Given the description of an element on the screen output the (x, y) to click on. 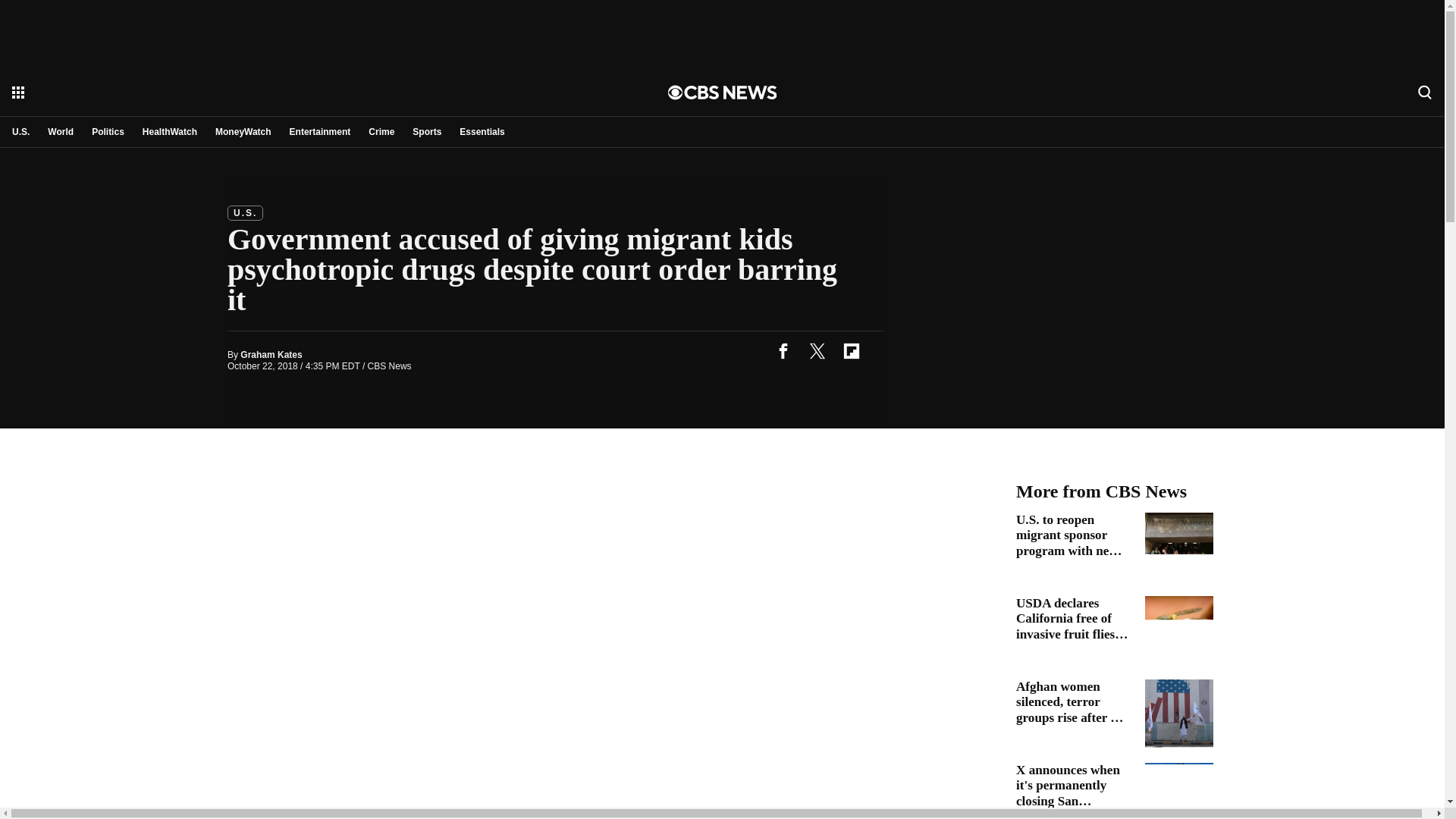
flipboard (850, 350)
twitter (816, 350)
facebook (782, 350)
